Given the description of an element on the screen output the (x, y) to click on. 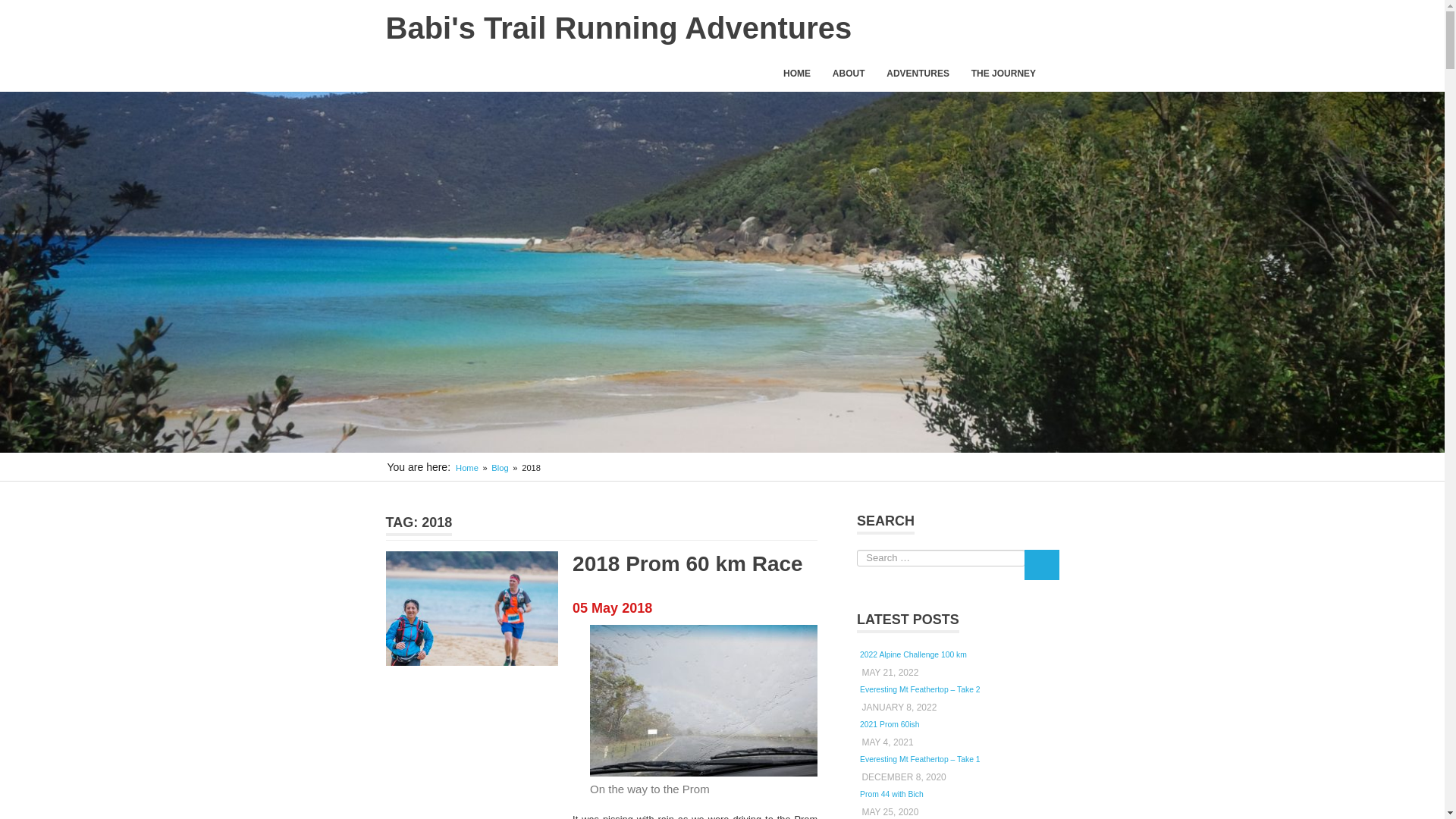
THE JOURNEY (1008, 73)
Home (467, 467)
2018 Prom 60 km Race (687, 563)
Babi's Trail Running Adventures (618, 28)
Prom 44 with Bich (891, 794)
2021 Prom 60ish (890, 724)
ADVENTURES (917, 73)
HOME (797, 73)
Search for: (941, 558)
Blog (500, 467)
ABOUT (848, 73)
2022 Alpine Challenge 100 km (913, 654)
